Given the description of an element on the screen output the (x, y) to click on. 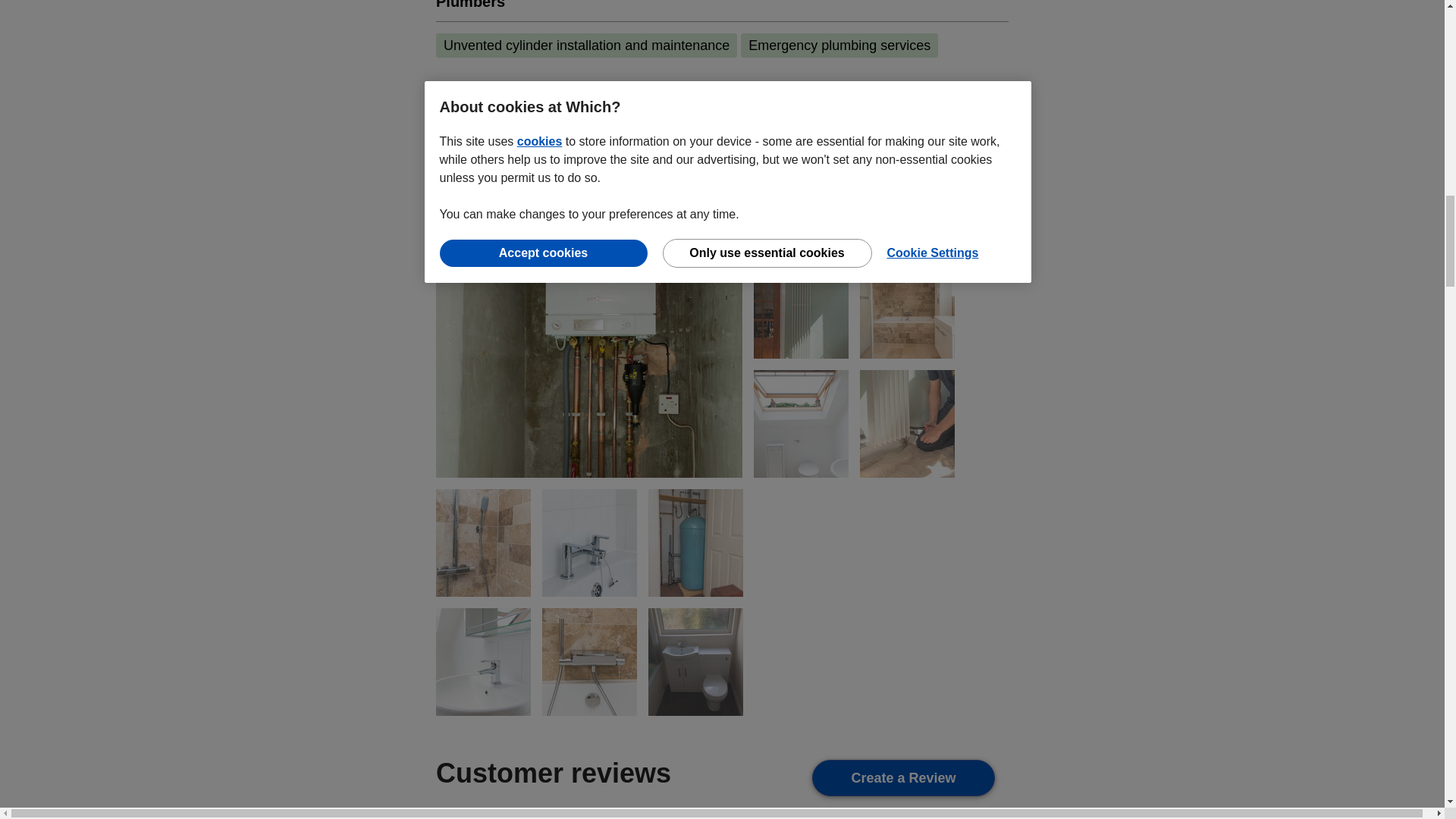
rad valve.jpg (907, 422)
